Given the description of an element on the screen output the (x, y) to click on. 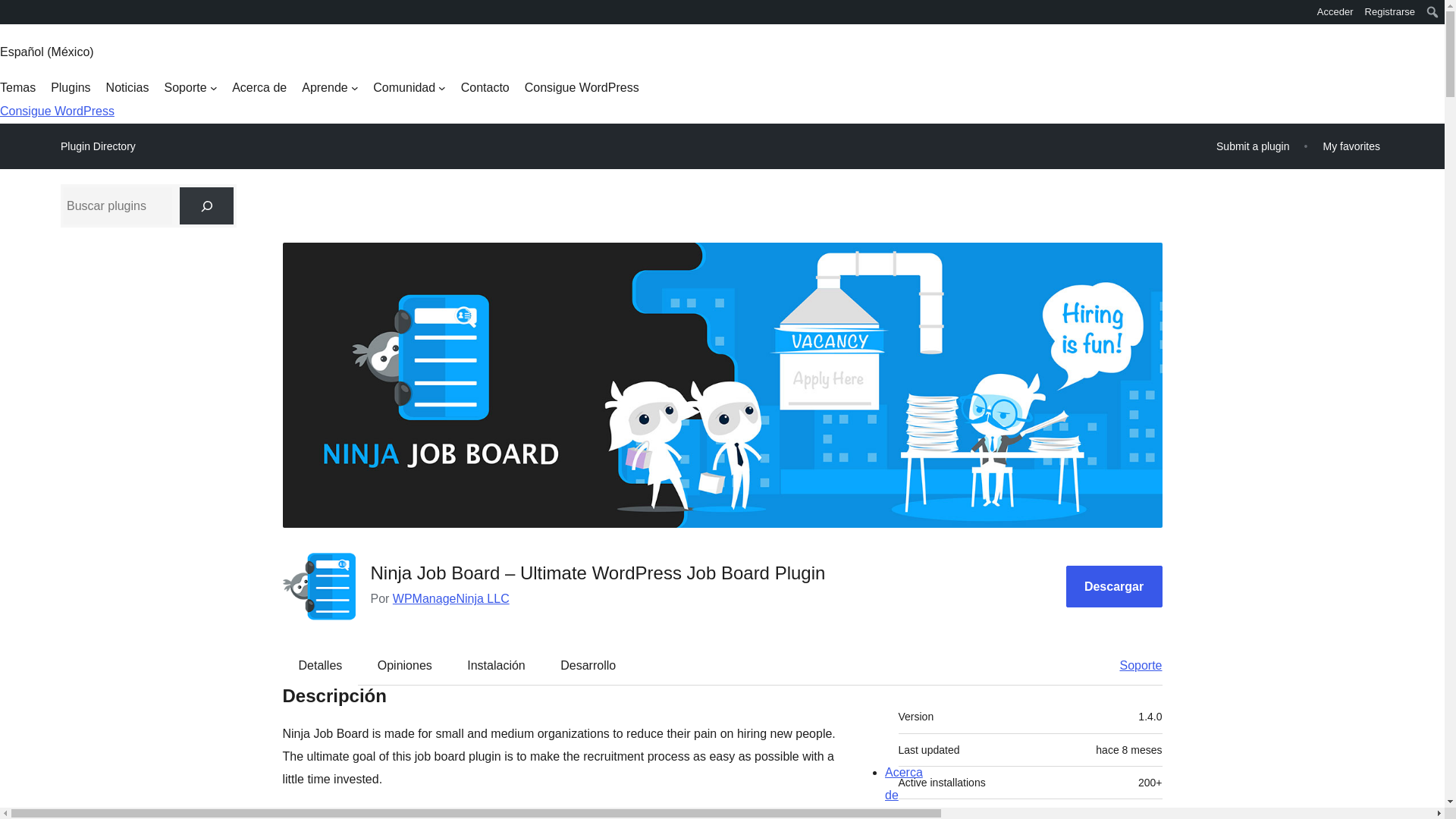
Temas (17, 87)
Opiniones (404, 665)
Descargar (1113, 586)
Aprende (329, 87)
Soporte (190, 87)
Contacto (485, 87)
Detalles (320, 665)
WPManageNinja LLC (451, 598)
Comunidad (408, 87)
Noticias (127, 87)
